Given the description of an element on the screen output the (x, y) to click on. 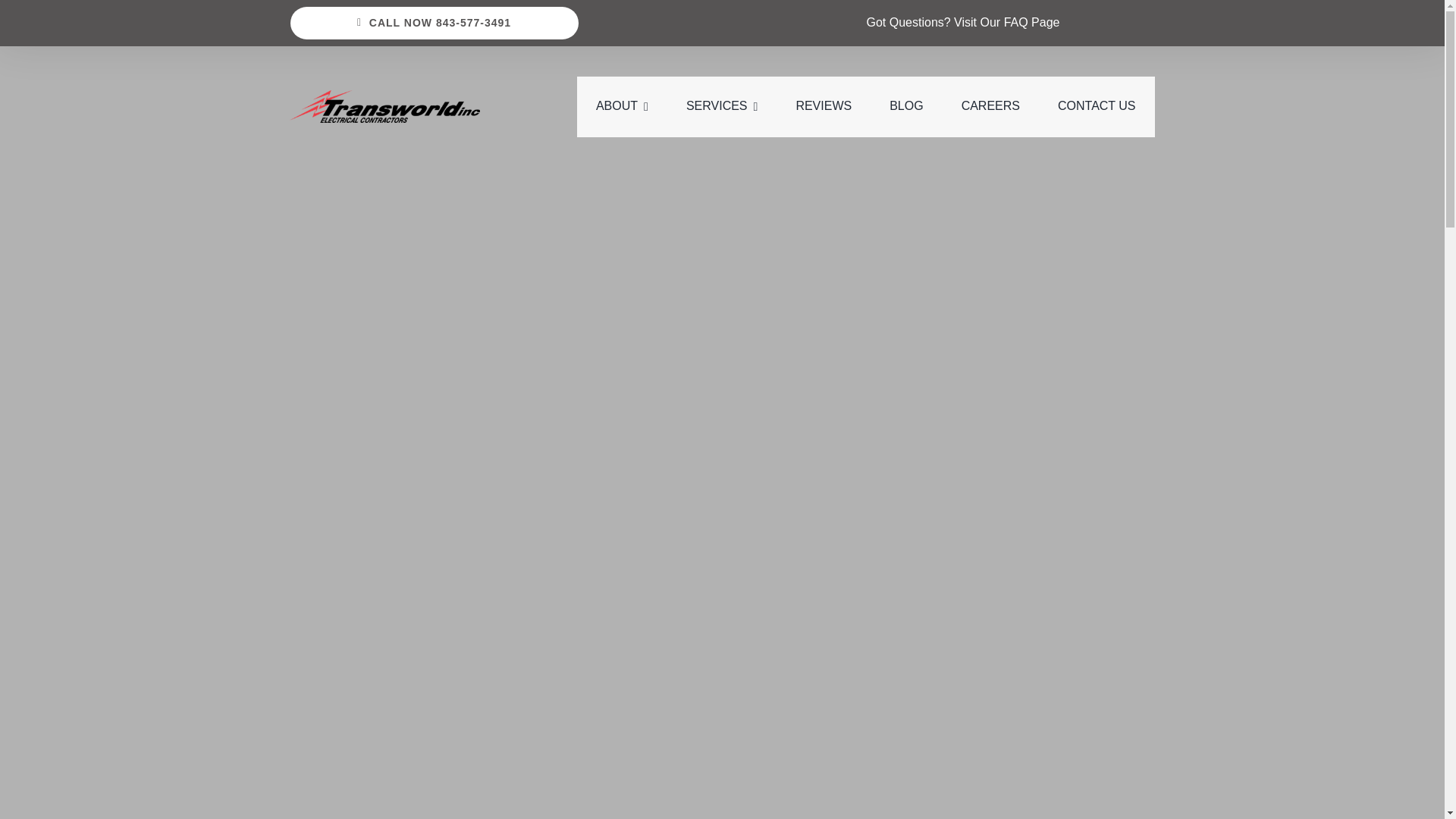
BLOG (906, 106)
ABOUT (621, 106)
FAQ Page (1031, 21)
CAREERS (990, 106)
Transworld Electrical Contractors Logo (384, 106)
CONTACT US (1096, 106)
SERVICES (721, 106)
CALL NOW 843-577-3491 (433, 22)
REVIEWS (823, 106)
